Given the description of an element on the screen output the (x, y) to click on. 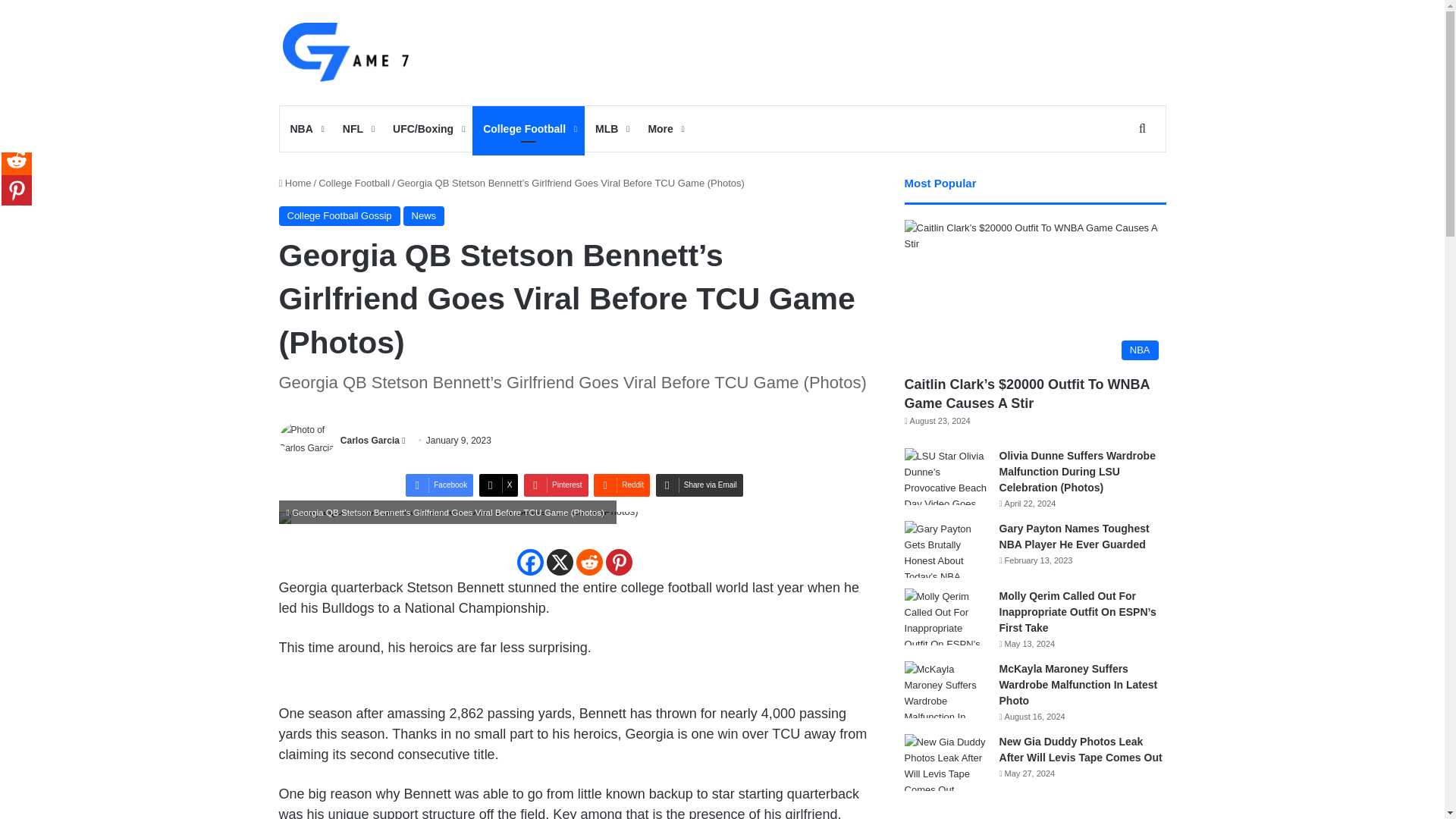
NBA (305, 128)
Facebook (529, 561)
Pinterest (556, 485)
GAME 7 (344, 52)
MLB (611, 128)
Facebook (439, 485)
NFL (356, 128)
X (498, 485)
Carlos Garcia (369, 439)
